Given the description of an element on the screen output the (x, y) to click on. 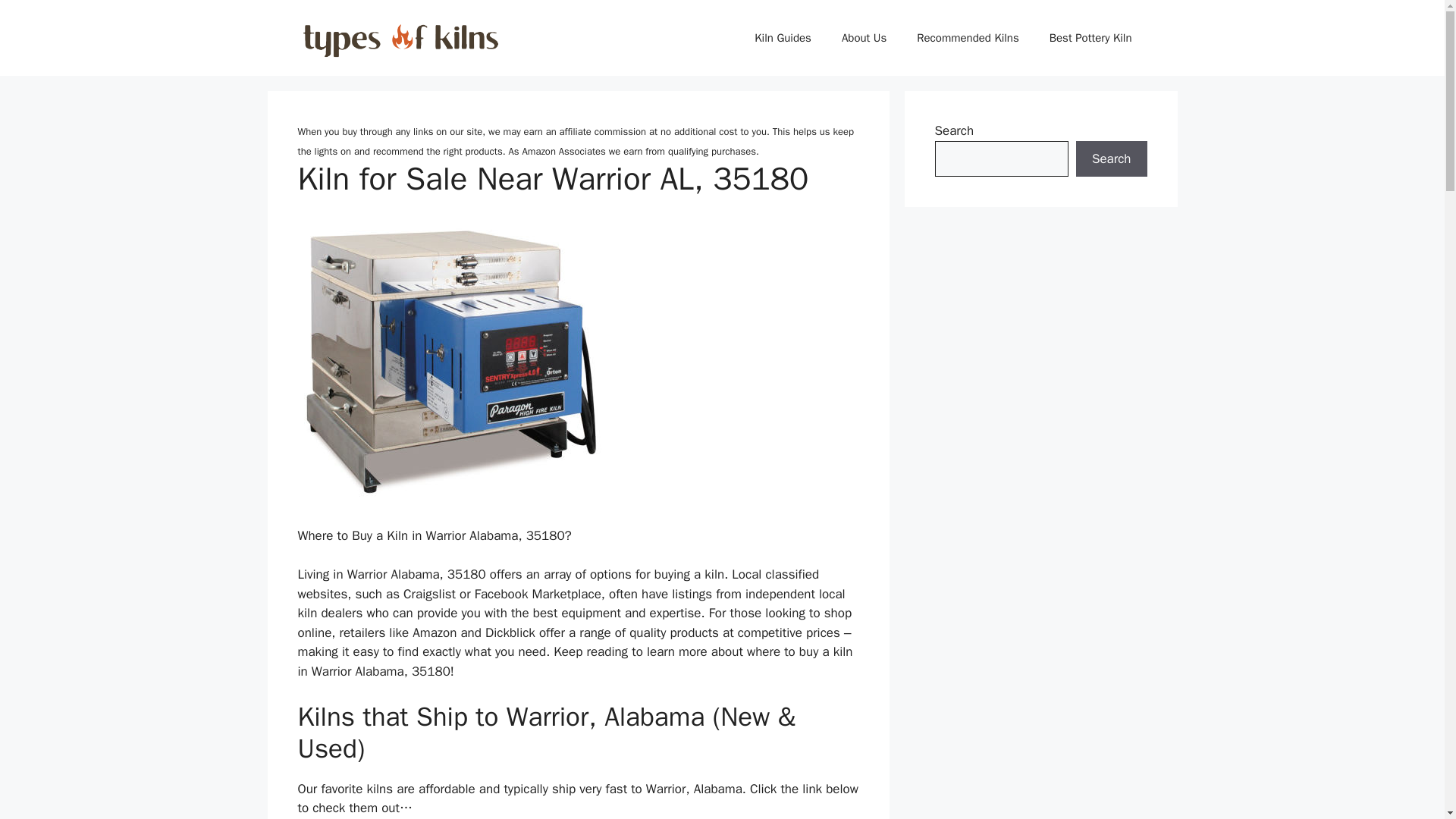
Recommended Kilns (967, 37)
Kiln Guides (783, 37)
Search (1111, 158)
About Us (864, 37)
Best Pottery Kiln (1090, 37)
